Given the description of an element on the screen output the (x, y) to click on. 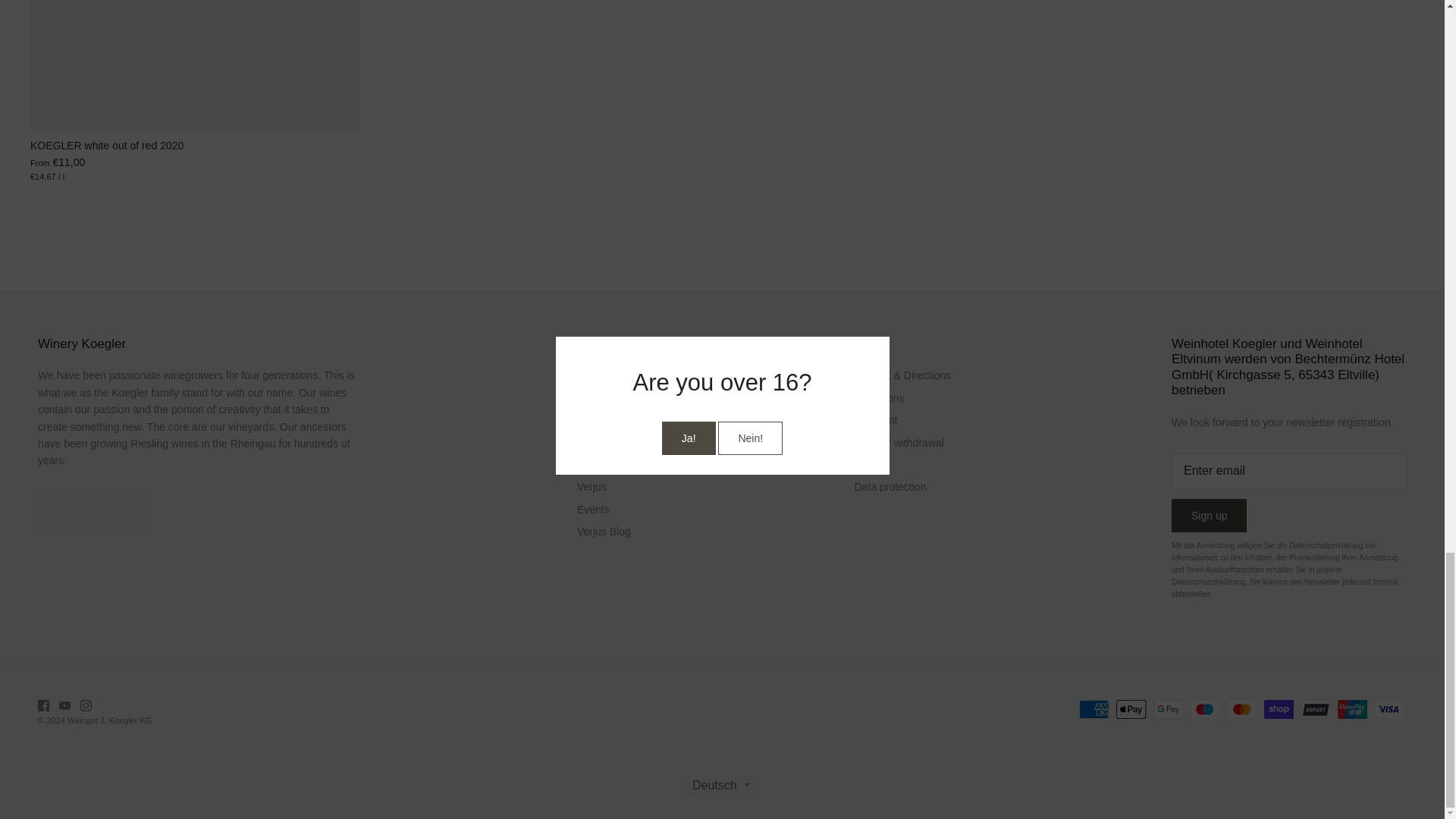
Facebook (43, 705)
SOFORT (1315, 709)
Union Pay (1352, 709)
Maestro (1204, 709)
American Express (1093, 709)
Shop Pay (1277, 709)
Google Pay (1168, 709)
Apple Pay (1130, 709)
Visa (1388, 709)
Youtube (64, 705)
Mastercard (1241, 709)
